Given the description of an element on the screen output the (x, y) to click on. 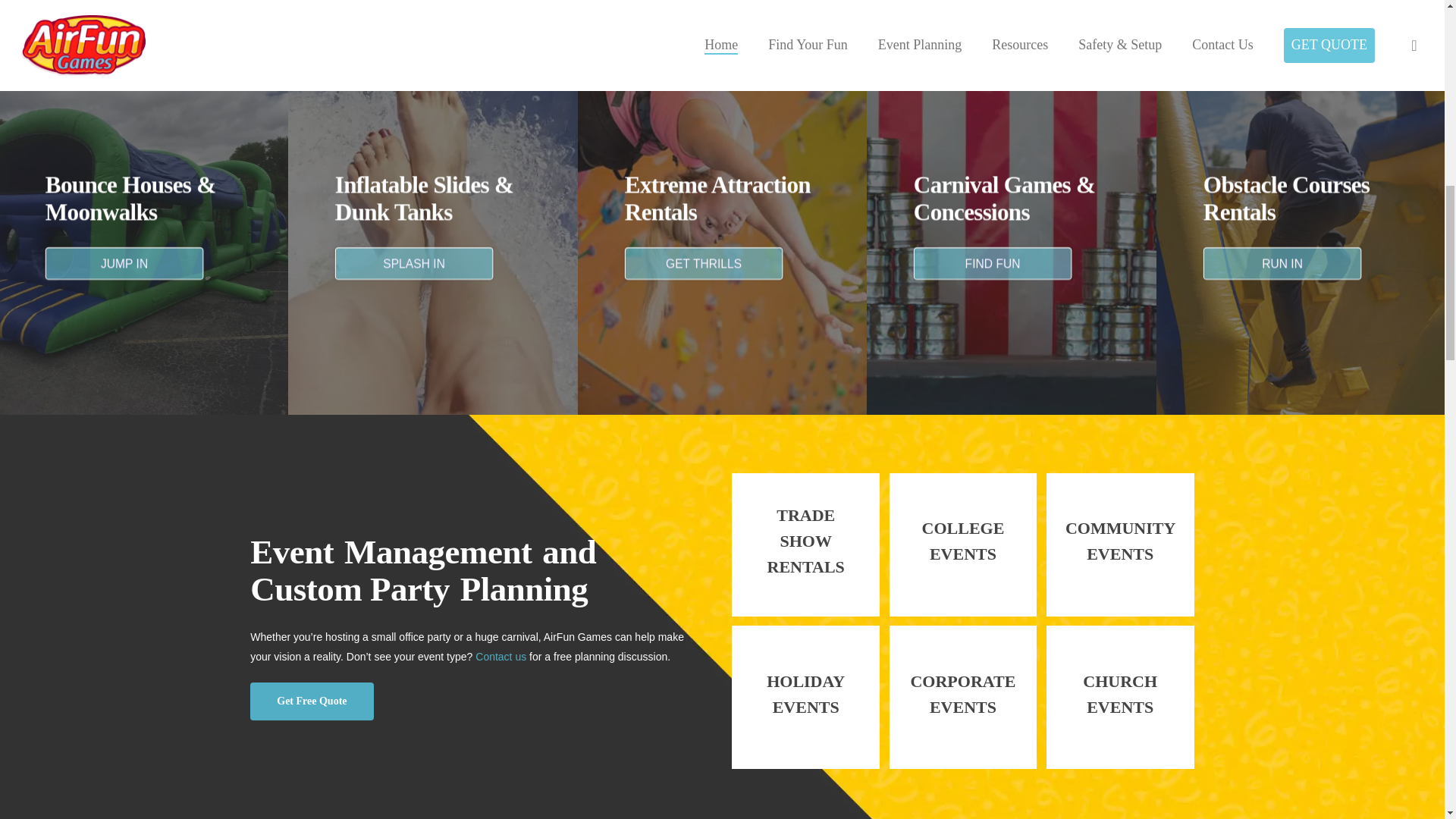
JUMP IN (120, 262)
SPLASH IN (410, 262)
